Given the description of an element on the screen output the (x, y) to click on. 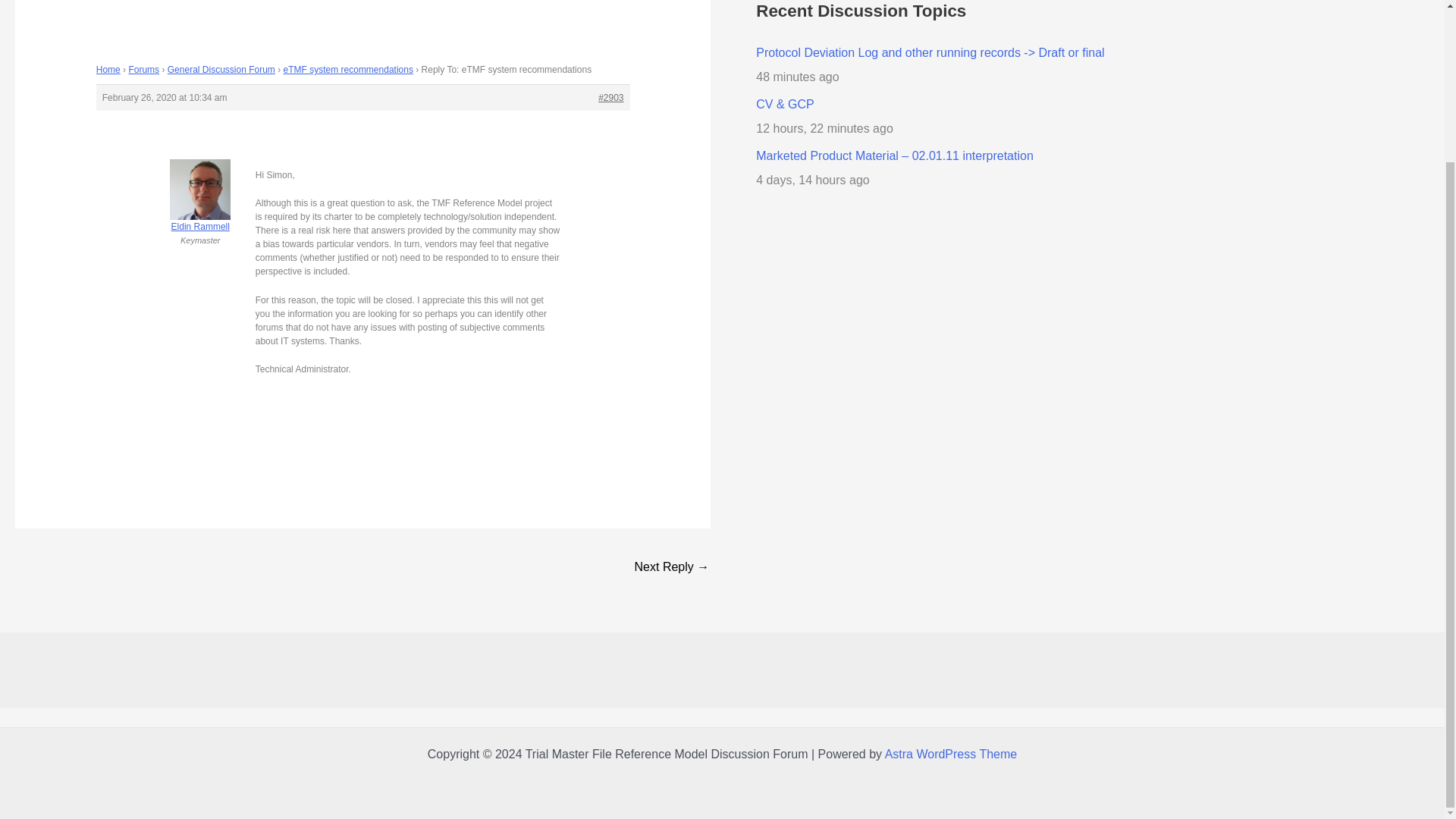
Astra WordPress Theme (951, 753)
View Eldin Rammell's profile (200, 208)
Eldin Rammell (200, 208)
Home (108, 69)
eTMF system recommendations (348, 69)
General Discussion Forum (221, 69)
Forums (143, 69)
